Given the description of an element on the screen output the (x, y) to click on. 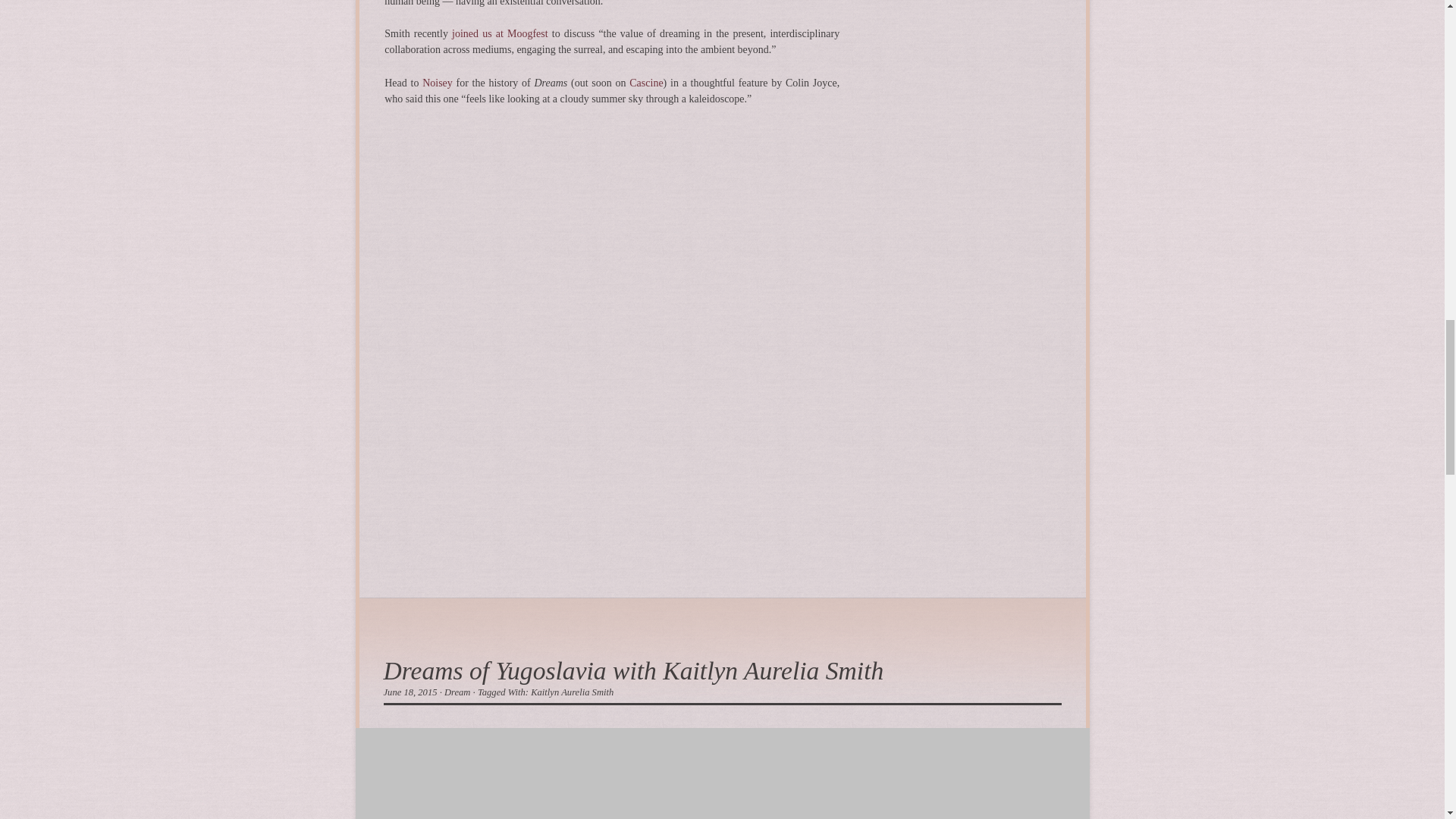
Dreams of Yugoslavia with Kaitlyn Aurelia Smith (633, 670)
joined us at Moogfest (499, 33)
Dream (457, 692)
Cascine (645, 82)
Dreams of Yugoslavia with Kaitlyn Aurelia Smith (633, 670)
Kaitlyn Aurelia Smith (571, 692)
Noisey (437, 82)
